Given the description of an element on the screen output the (x, y) to click on. 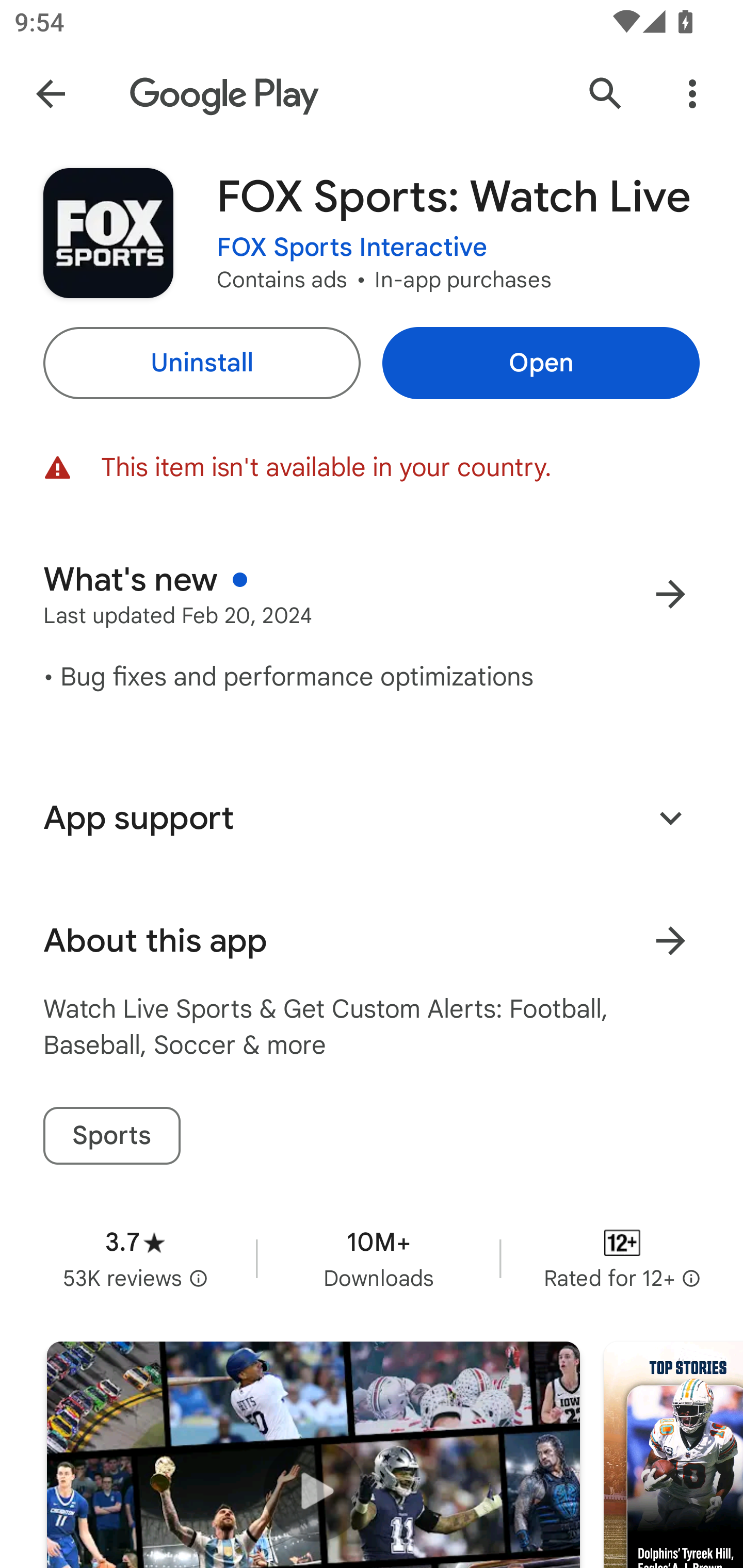
Navigate up (50, 93)
Search Google Play (605, 93)
More Options (692, 93)
FOX Sports Interactive (351, 247)
Uninstall (201, 362)
Open (540, 362)
More results for What's new (670, 594)
App support Expand (371, 817)
Expand (670, 817)
About this app Learn more About this app (371, 940)
Learn more About this app (670, 940)
Sports tag (111, 1135)
Average rating 3.7 stars in 53 thousand reviews (135, 1258)
Content rating Rated for 12+ (622, 1258)
Play trailer for "FOX Sports: Watch Live" (313, 1455)
